Given the description of an element on the screen output the (x, y) to click on. 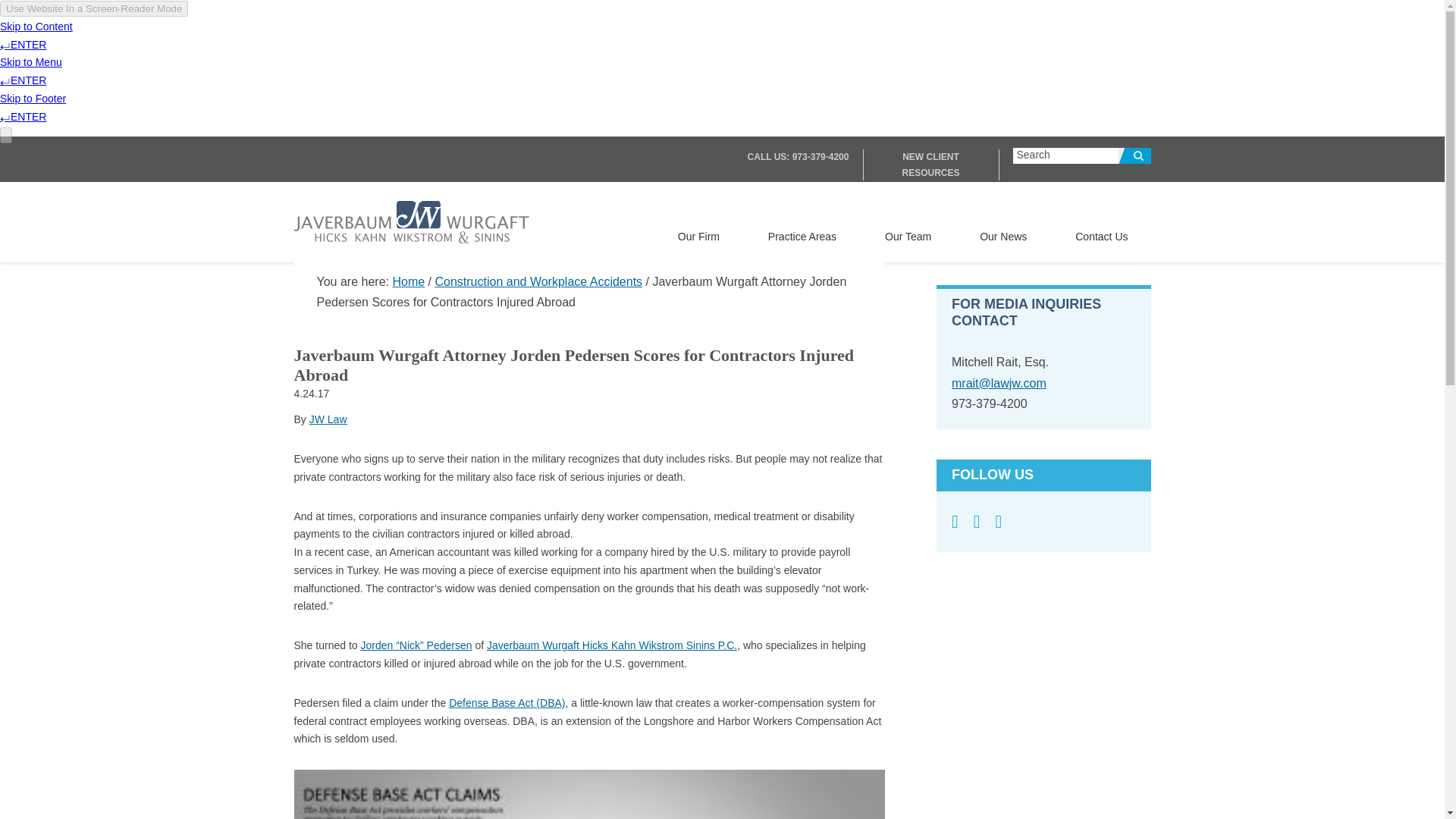
NEW CLIENT RESOURCES (930, 164)
JW Law (327, 419)
Construction and Workplace Accidents (537, 281)
Search (1134, 155)
Our Team (908, 235)
Search (1134, 155)
Practice Areas (801, 235)
Javerbaum Wurgaft Hicks Kahn Wikstrom Sinins P.C. (611, 645)
